Given the description of an element on the screen output the (x, y) to click on. 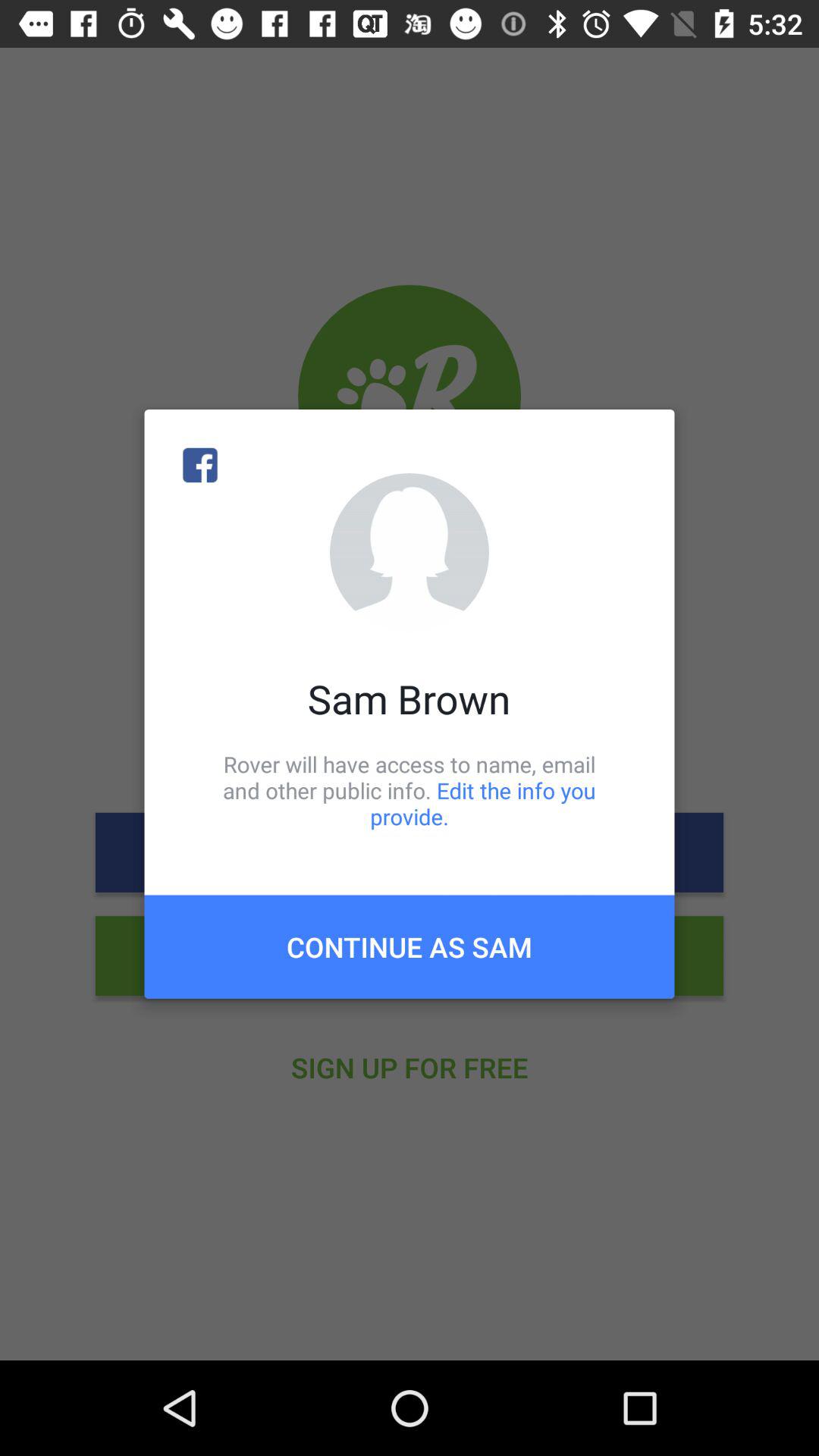
select the icon below the rover will have item (409, 946)
